Given the description of an element on the screen output the (x, y) to click on. 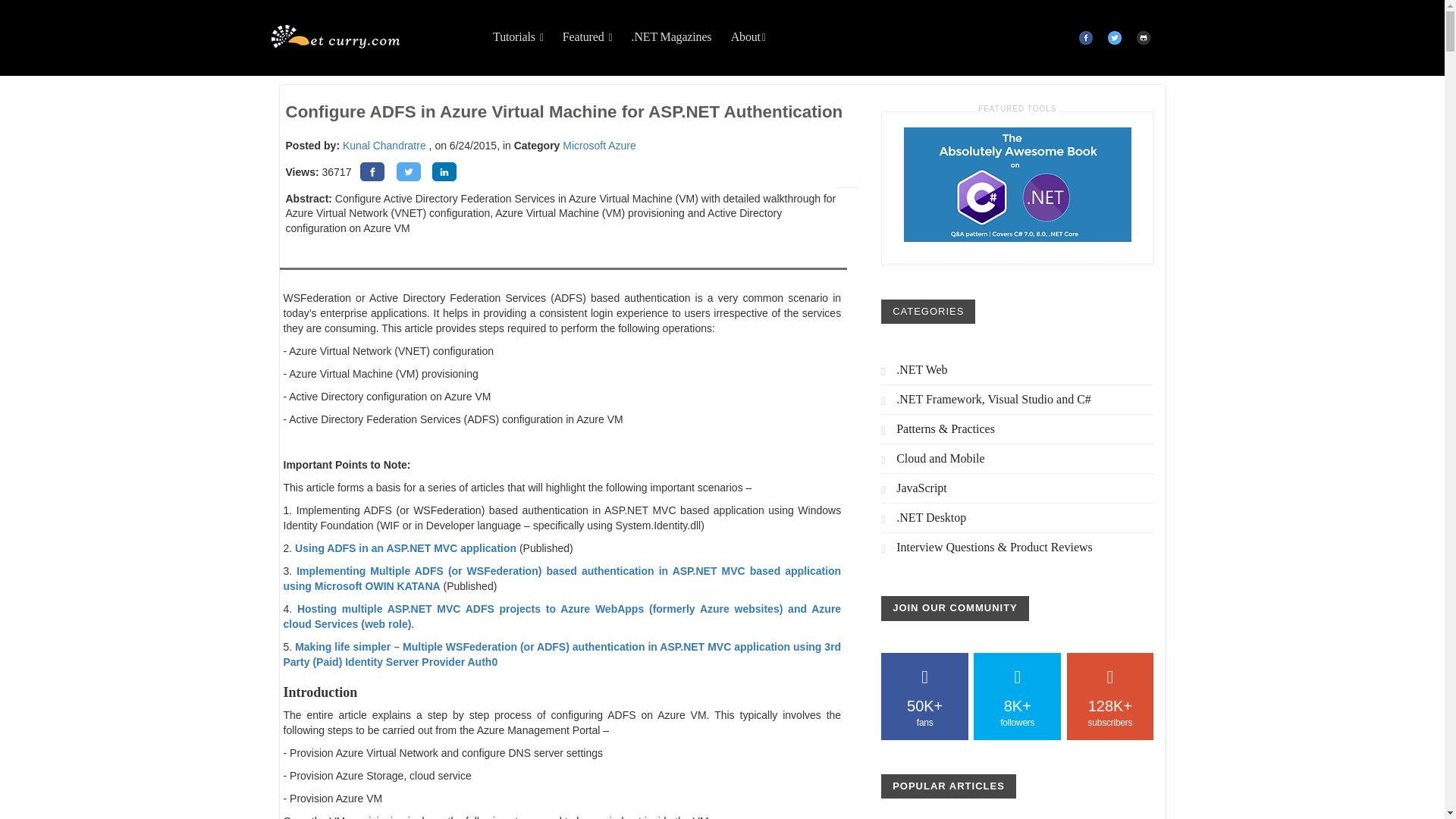
Tutorials (518, 37)
